Given the description of an element on the screen output the (x, y) to click on. 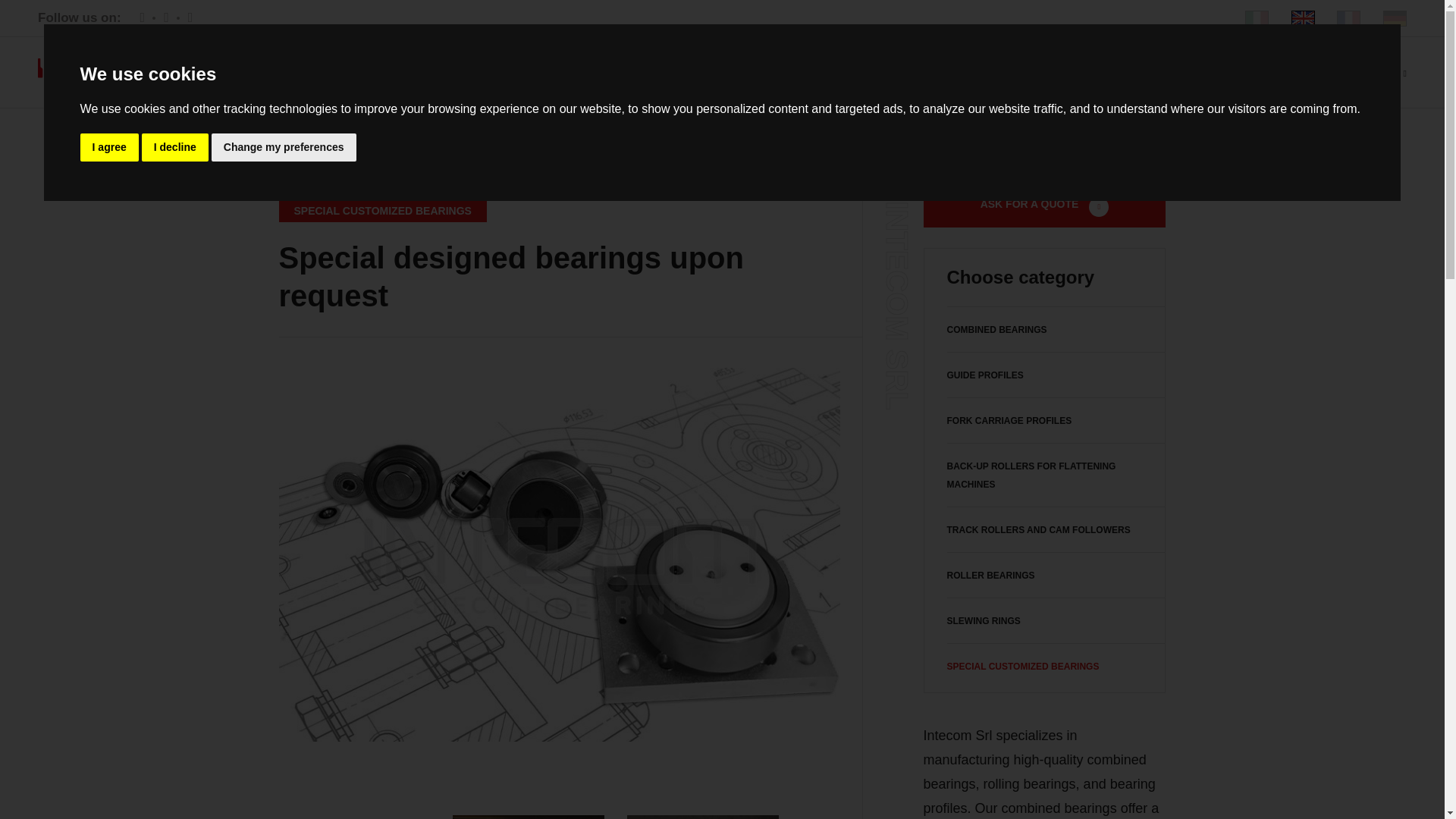
Italiano (1256, 17)
About Us (541, 71)
Change my preferences (283, 147)
English (1302, 17)
I decline (174, 147)
Contacts (1098, 71)
Spare Parts (760, 71)
GET QUOTE (1365, 72)
Deutsch (1394, 17)
Catalog (868, 71)
Products (646, 71)
I agree (109, 147)
